Given the description of an element on the screen output the (x, y) to click on. 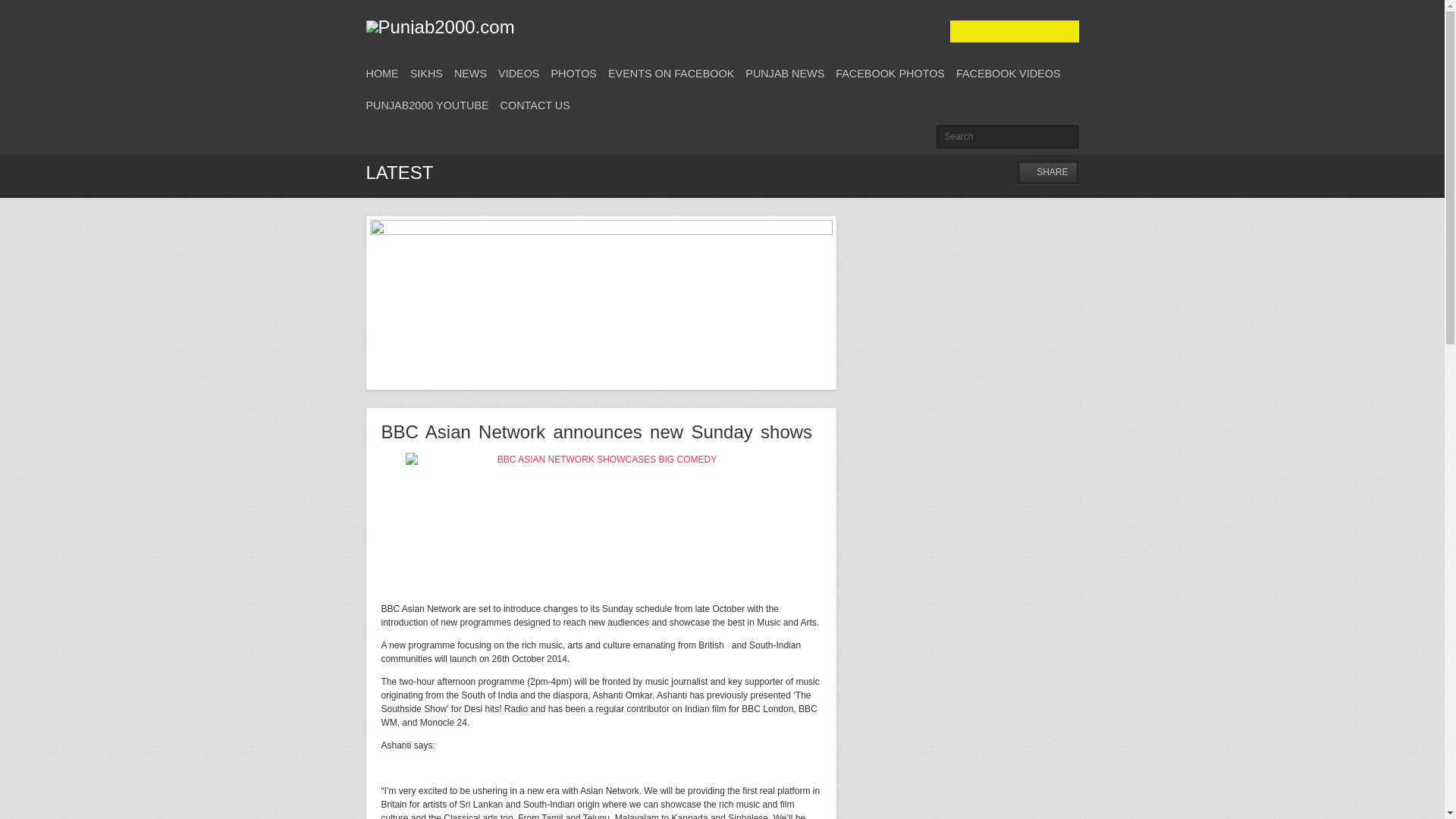
VIDEOS (517, 73)
Search (1007, 136)
Facebook (1017, 31)
YouTube (1042, 31)
EVENTS ON FACEBOOK (670, 73)
SIKHS (426, 73)
Twitter (965, 31)
SHARE (1047, 171)
PUNJAB2000 YOUTUBE (426, 105)
SoundCloud (1068, 31)
